Given the description of an element on the screen output the (x, y) to click on. 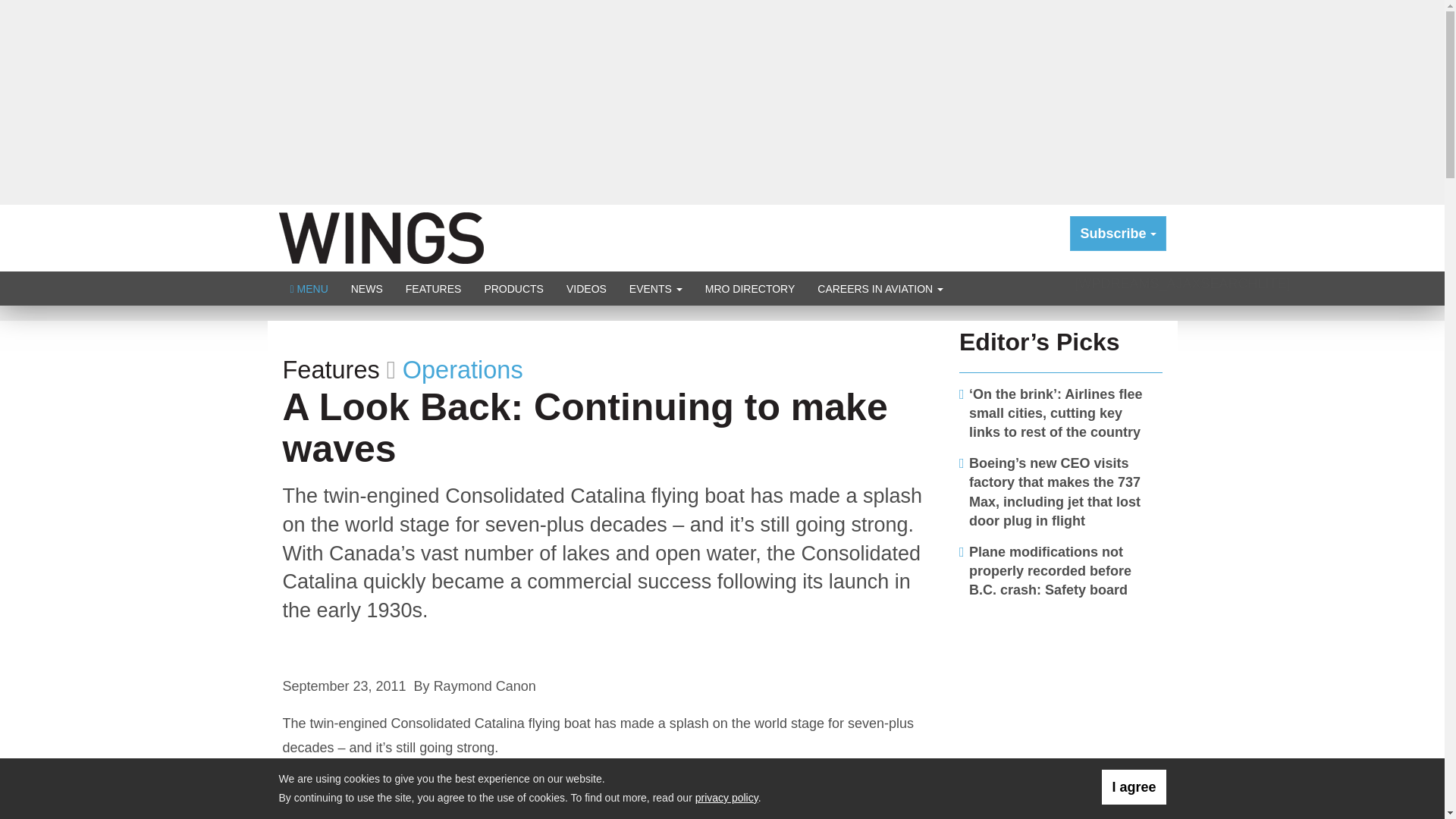
MENU (309, 288)
3rd party ad content (1060, 706)
MRO DIRECTORY (750, 288)
FEATURES (433, 288)
EVENTS (655, 288)
CAREERS IN AVIATION (880, 288)
Click to show site navigation (309, 288)
PRODUCTS (512, 288)
NEWS (366, 288)
Subscribe (1118, 233)
